Given the description of an element on the screen output the (x, y) to click on. 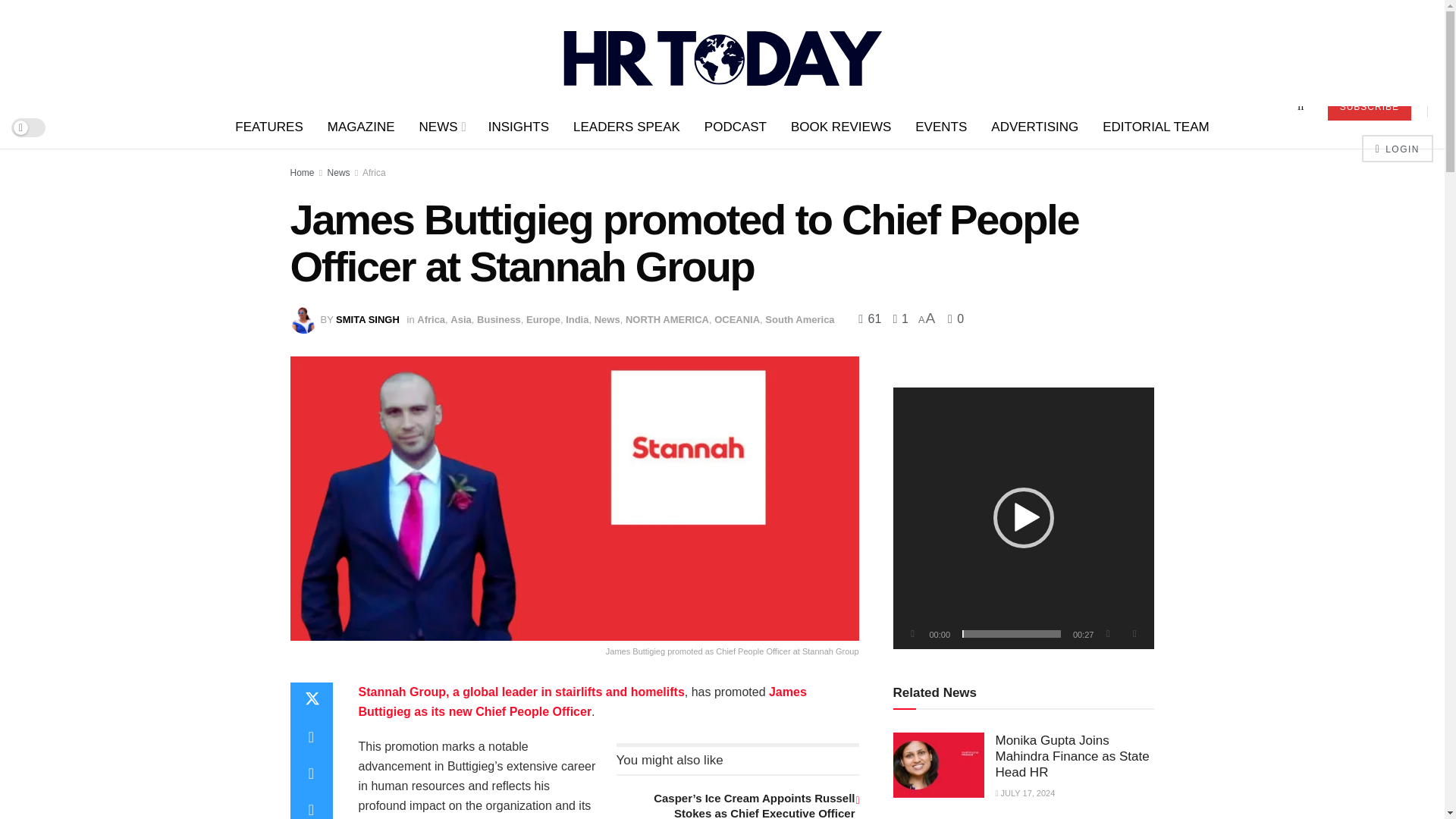
LEADERS SPEAK (626, 127)
MAGAZINE (361, 127)
ADVERTISING (1034, 127)
FEATURES (268, 127)
SUBSCRIBE (1368, 106)
EDITORIAL TEAM (1155, 127)
INSIGHTS (518, 127)
EVENTS (940, 127)
NEWS (441, 127)
BOOK REVIEWS (840, 127)
